Given the description of an element on the screen output the (x, y) to click on. 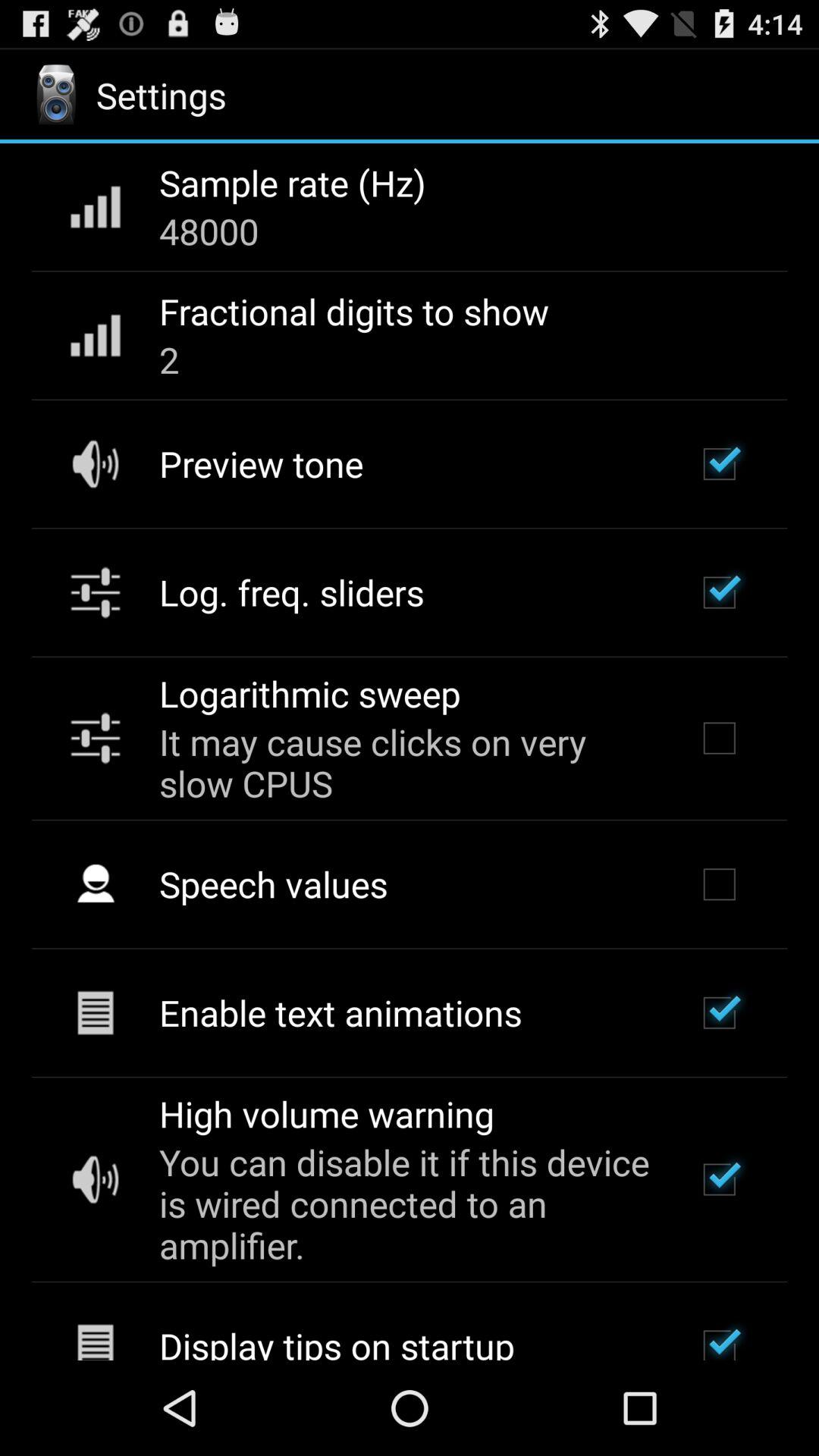
swipe to the sample rate (hz) item (292, 182)
